Given the description of an element on the screen output the (x, y) to click on. 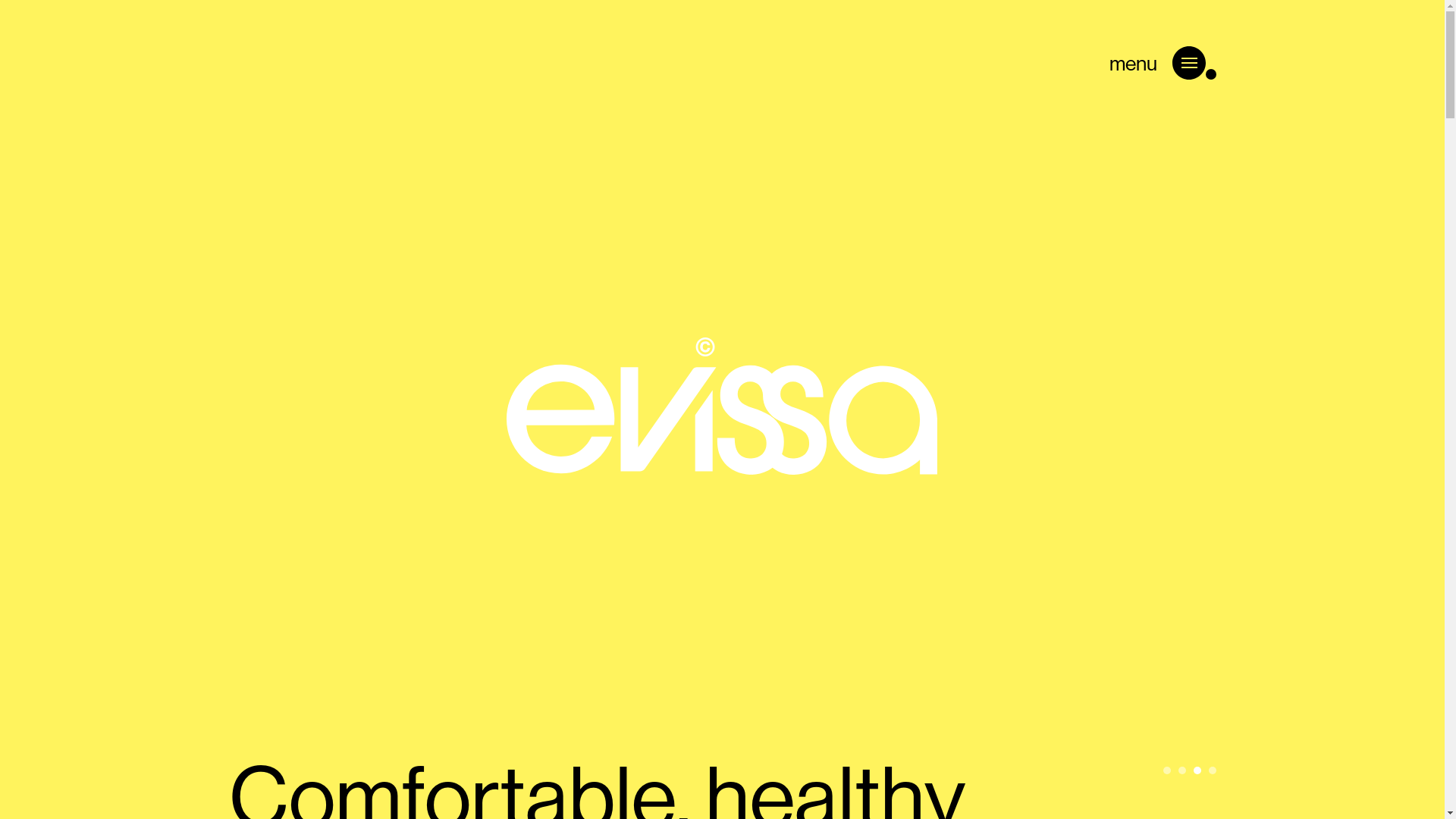
menu Element type: text (1161, 44)
